Given the description of an element on the screen output the (x, y) to click on. 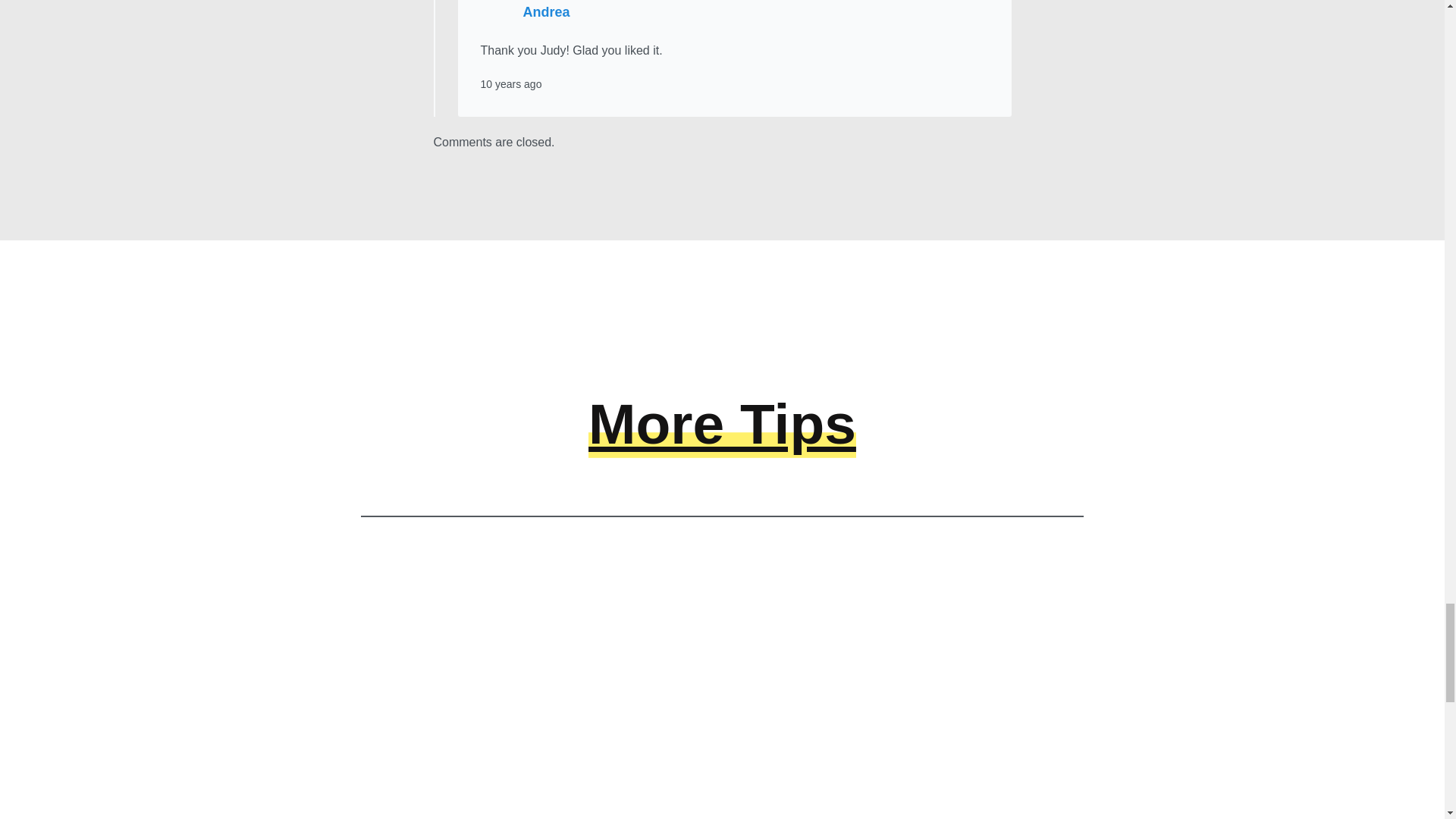
2014-07-21T09:58:41-05:00 (510, 83)
